Given the description of an element on the screen output the (x, y) to click on. 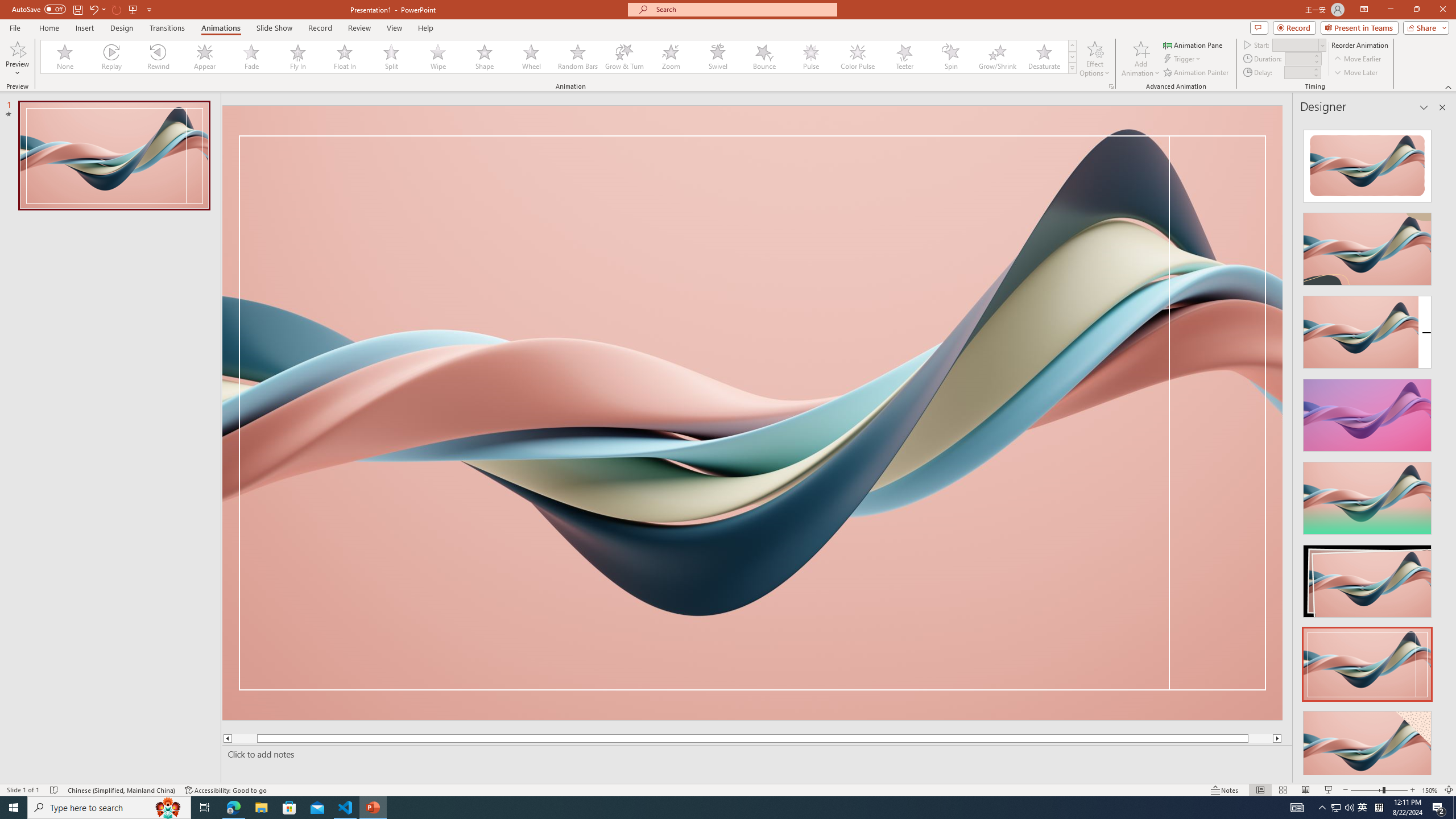
Animation Duration (1298, 58)
Teeter (903, 56)
Bounce (764, 56)
Swivel (717, 56)
Replay (111, 56)
